Given the description of an element on the screen output the (x, y) to click on. 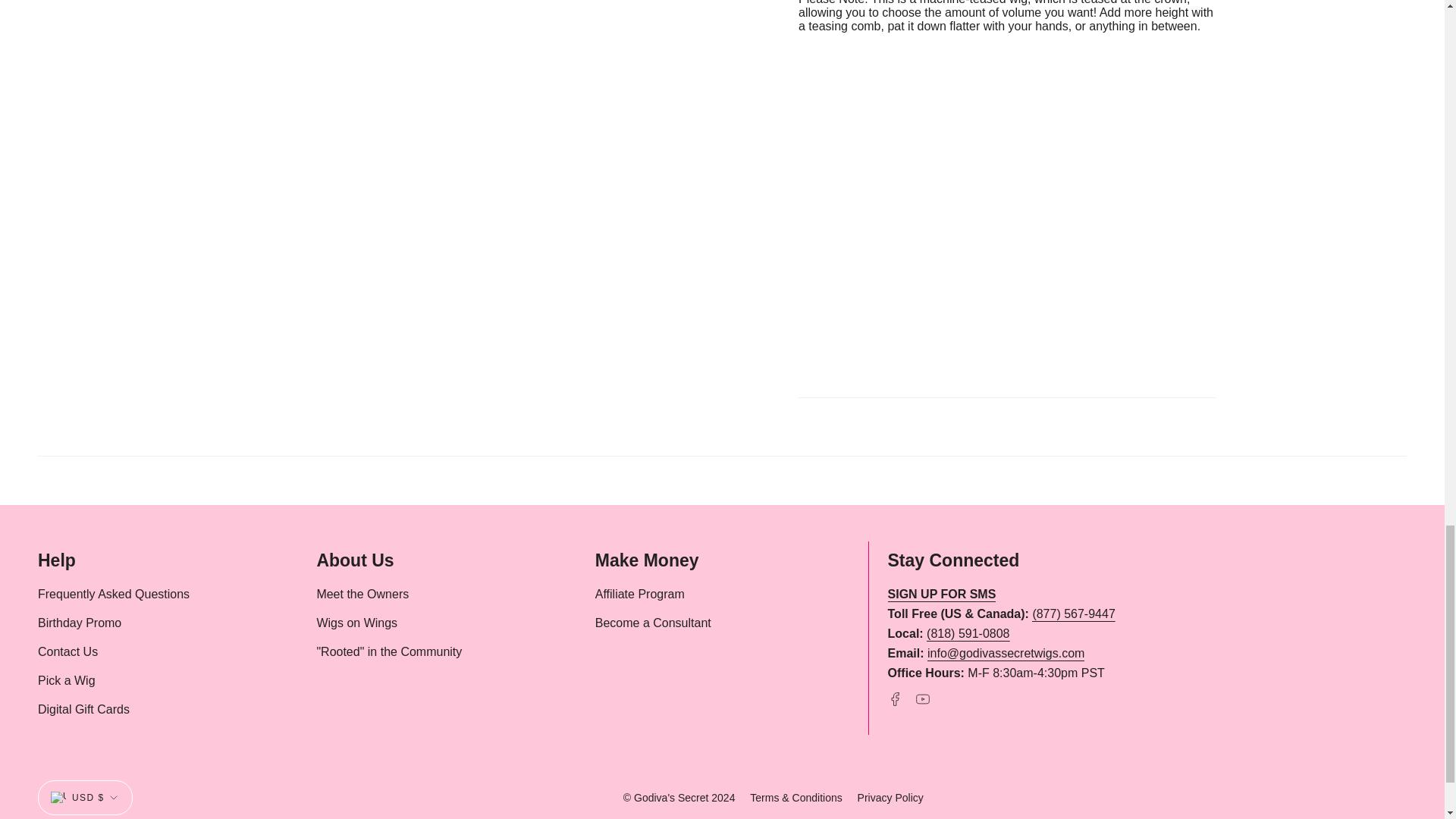
Godiva's Secret on Facebook (895, 697)
Godiva's Secret on YouTube (922, 697)
SMS (941, 596)
